Given the description of an element on the screen output the (x, y) to click on. 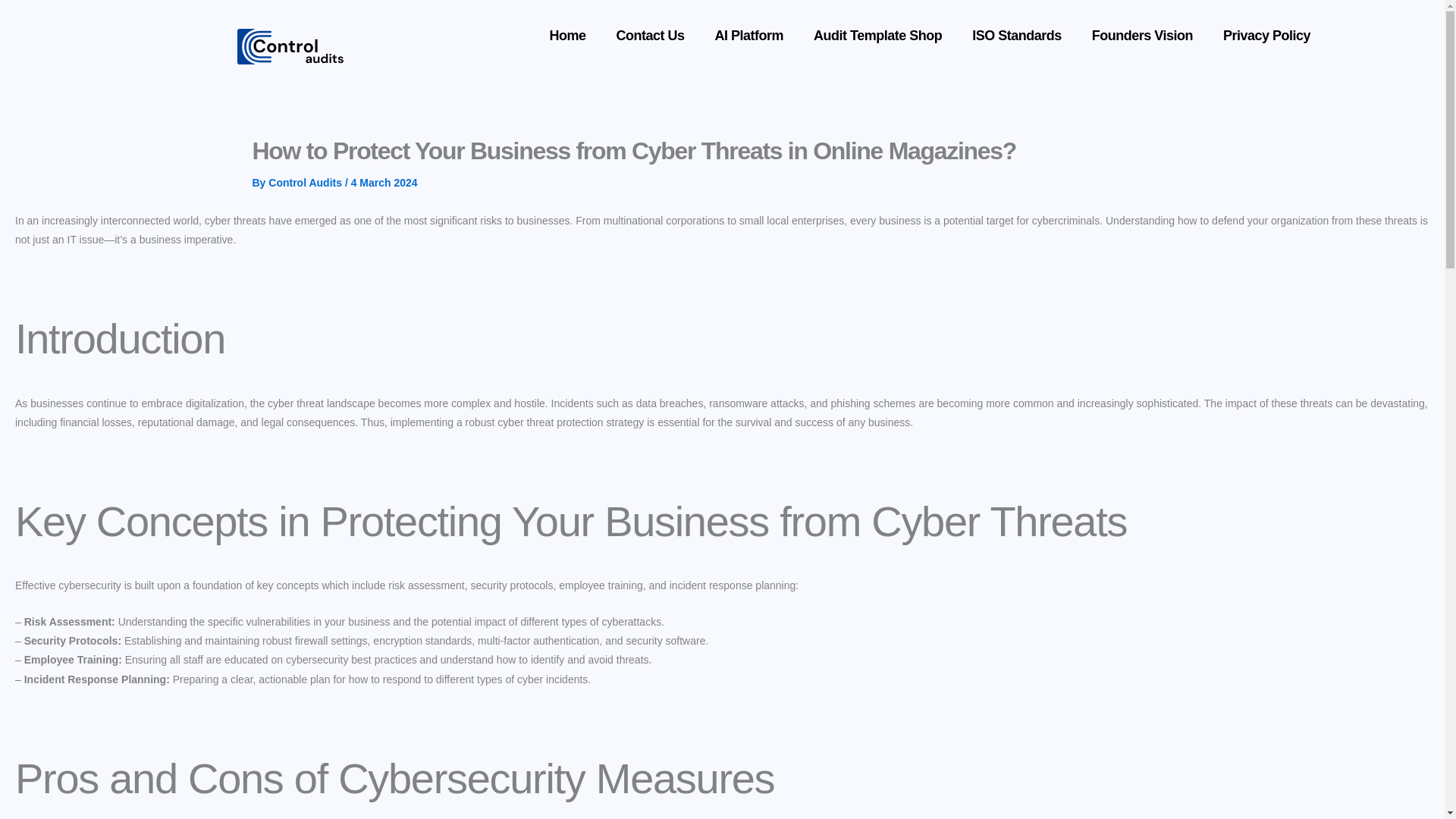
Control Audits (306, 182)
AI Platform (749, 35)
Contact Us (650, 35)
View all posts by Control Audits (306, 182)
Privacy Policy (1266, 35)
Founders Vision (1142, 35)
Audit Template Shop (876, 35)
Home (566, 35)
ISO Standards (1016, 35)
